Given the description of an element on the screen output the (x, y) to click on. 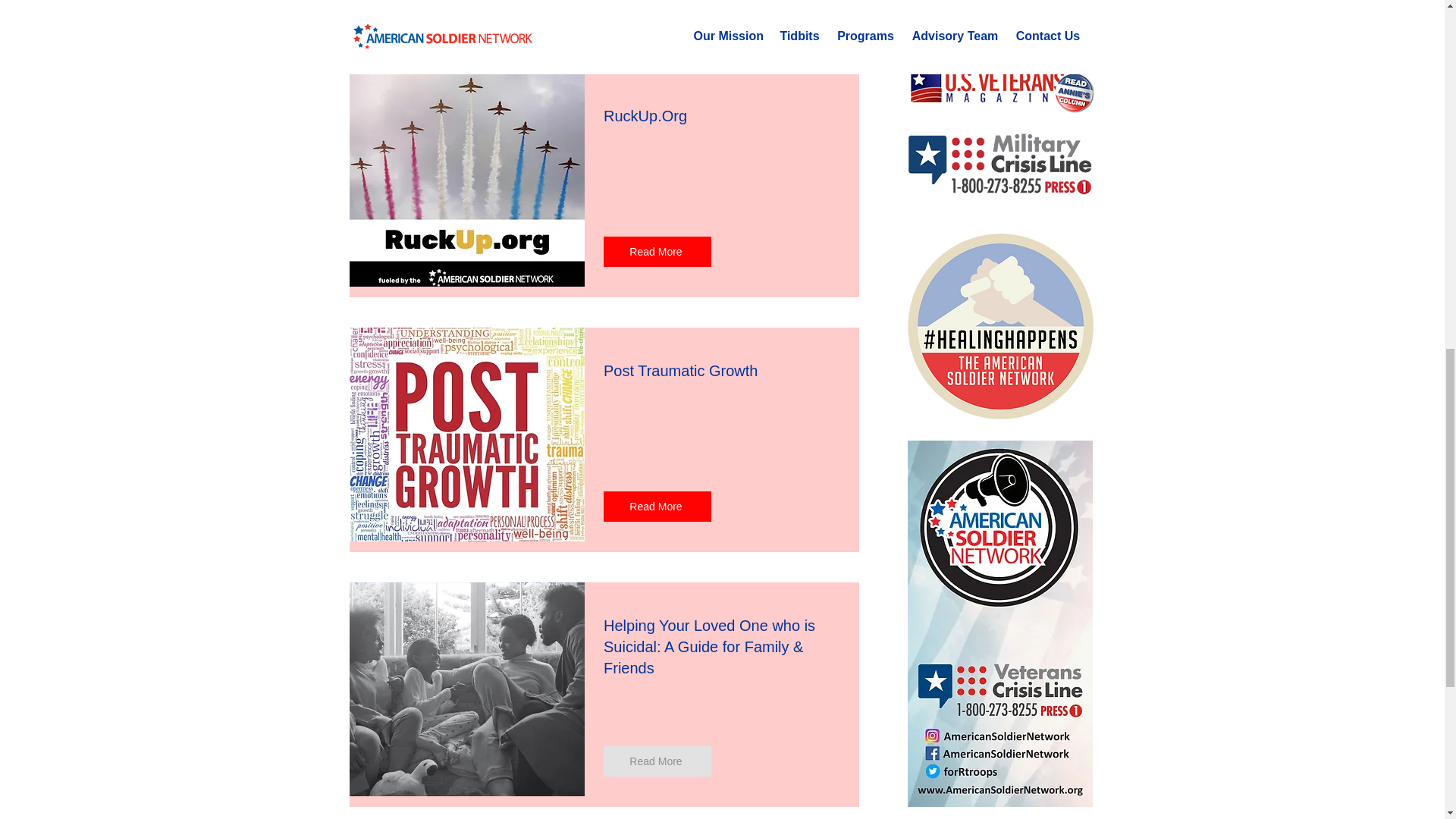
Read More (657, 506)
Read More (657, 251)
Read More (657, 761)
DONATE NOW (1000, 28)
